Given the description of an element on the screen output the (x, y) to click on. 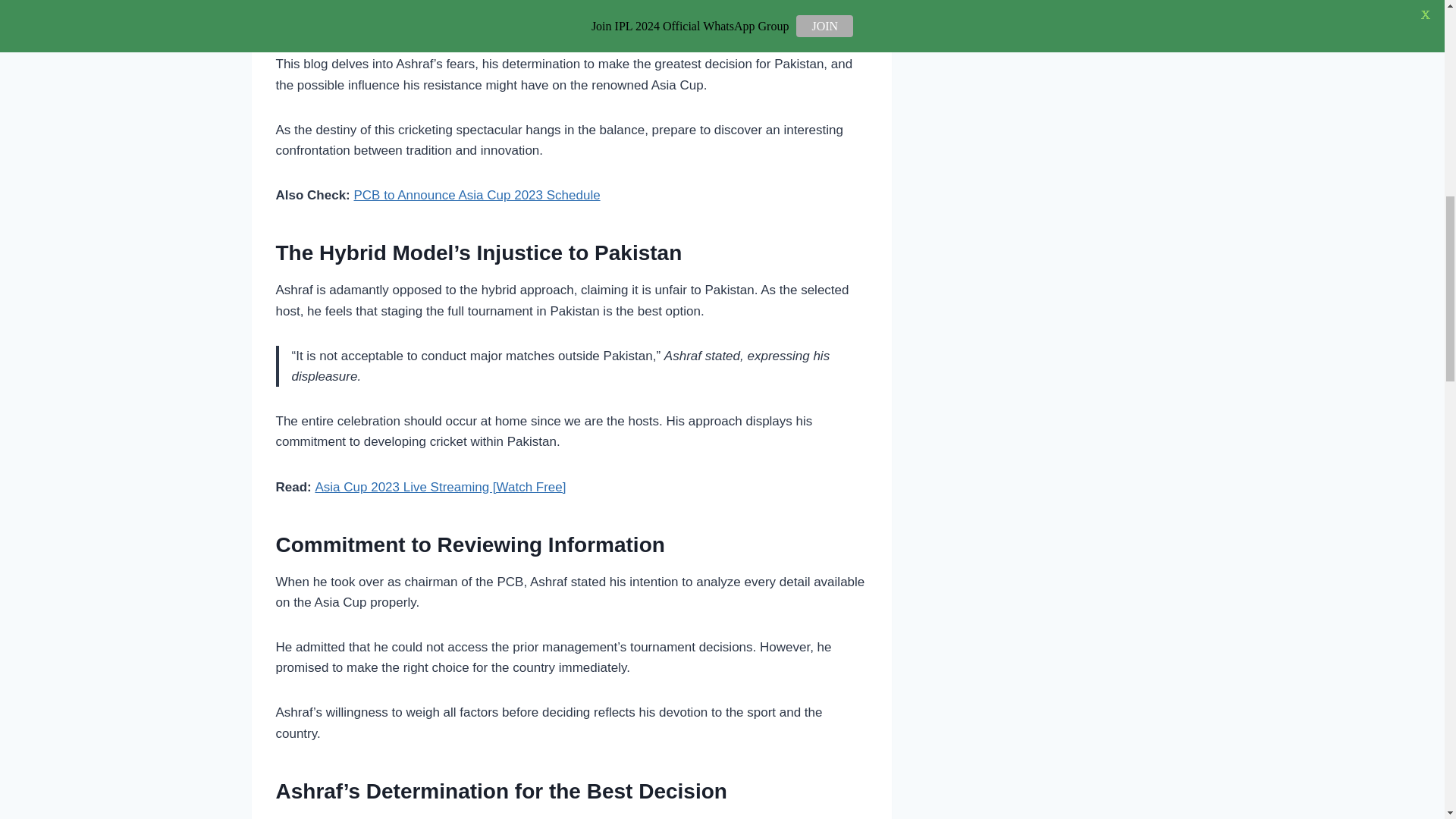
Advertisement (571, 27)
